Given the description of an element on the screen output the (x, y) to click on. 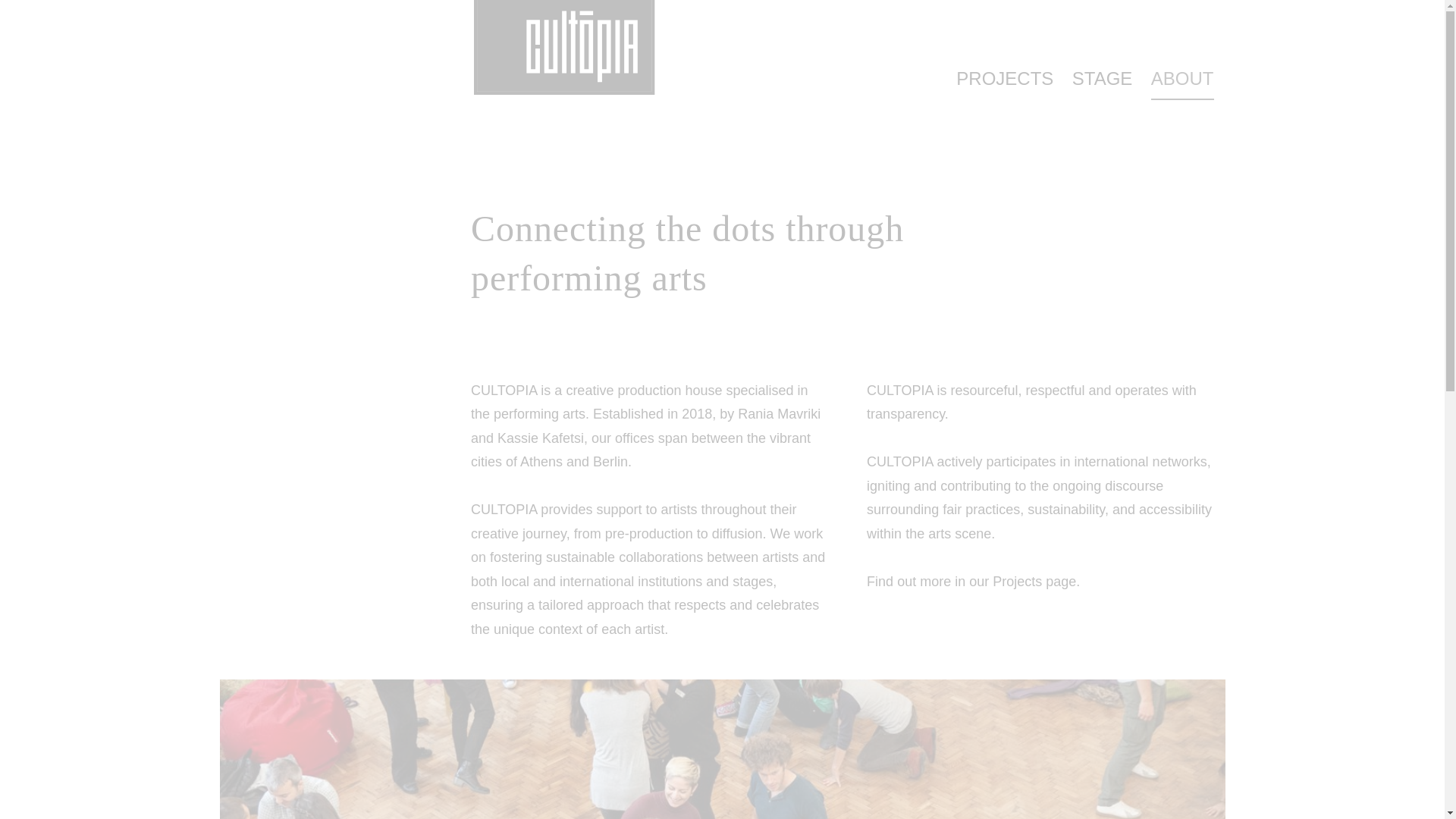
ABOUT (1182, 81)
STAGE (1101, 81)
PROJECTS (1004, 81)
Projects (1017, 583)
